Given the description of an element on the screen output the (x, y) to click on. 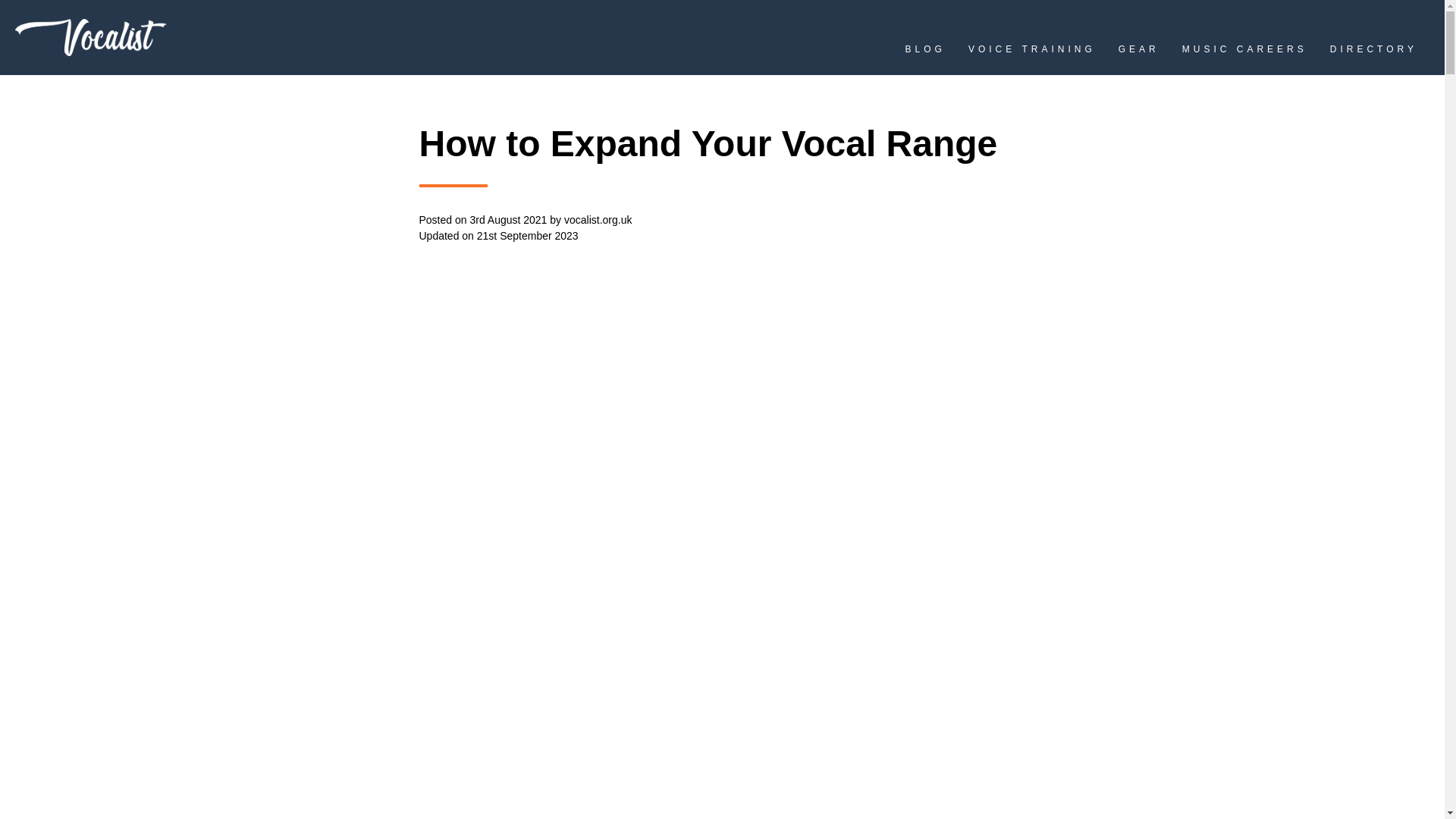
MUSIC CAREERS (1244, 52)
3rd August 2021 (507, 219)
VOICE TRAINING (1032, 52)
DIRECTORY (1373, 52)
BLOG (924, 52)
vocalist.org.uk (597, 219)
GEAR (1138, 52)
